Given the description of an element on the screen output the (x, y) to click on. 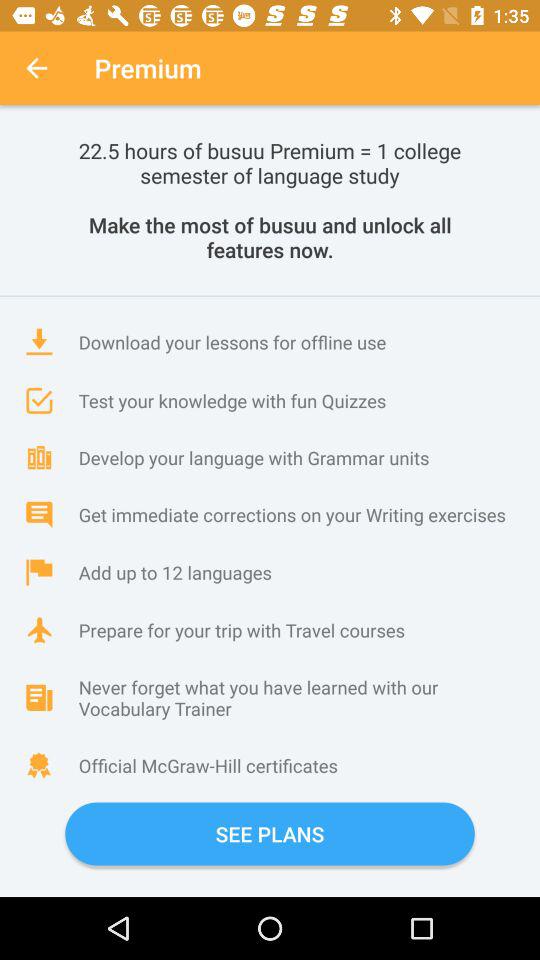
choose icon below the official mcgraw hill item (269, 833)
